Given the description of an element on the screen output the (x, y) to click on. 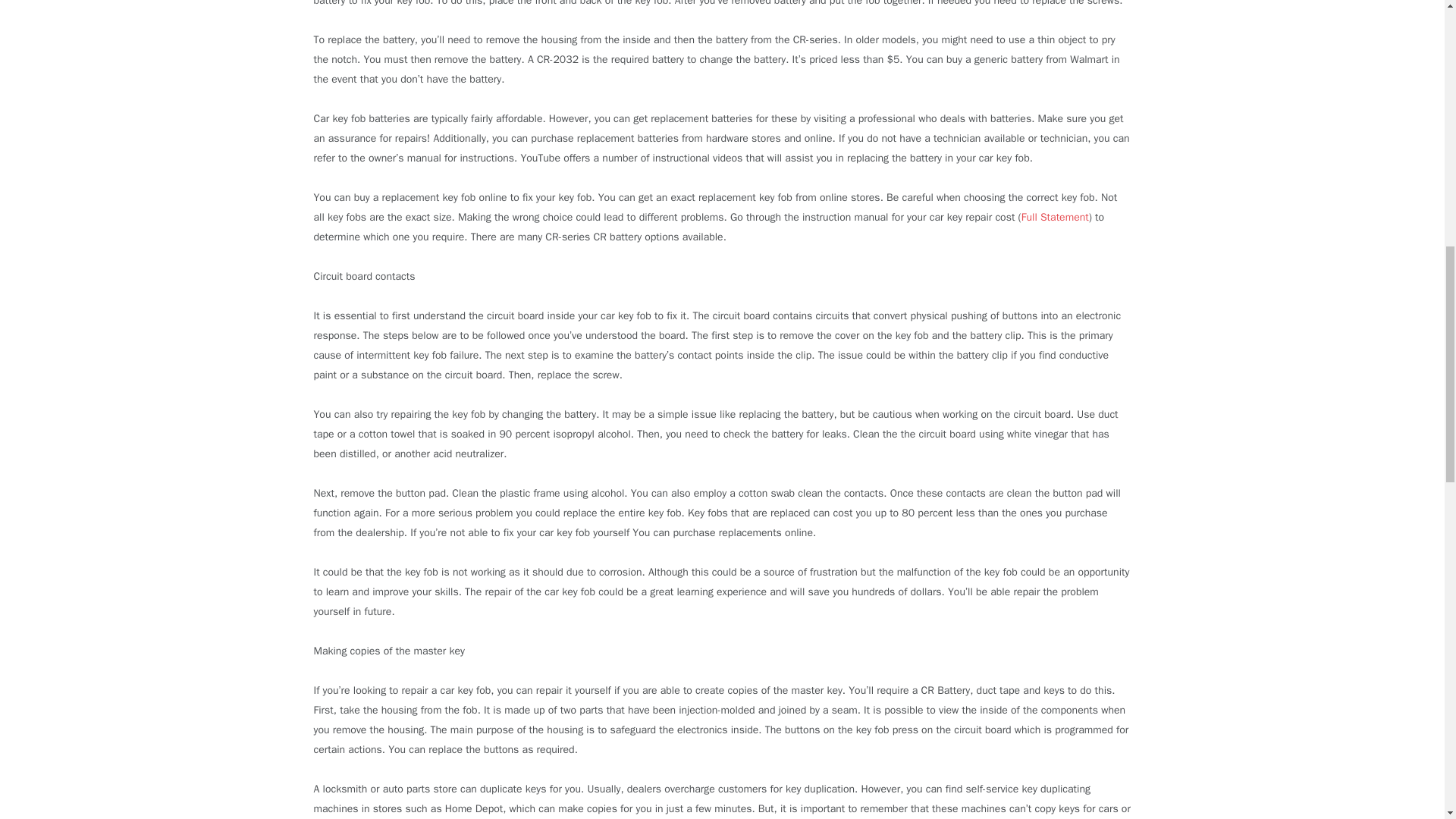
Full Statement (1055, 216)
